Given the description of an element on the screen output the (x, y) to click on. 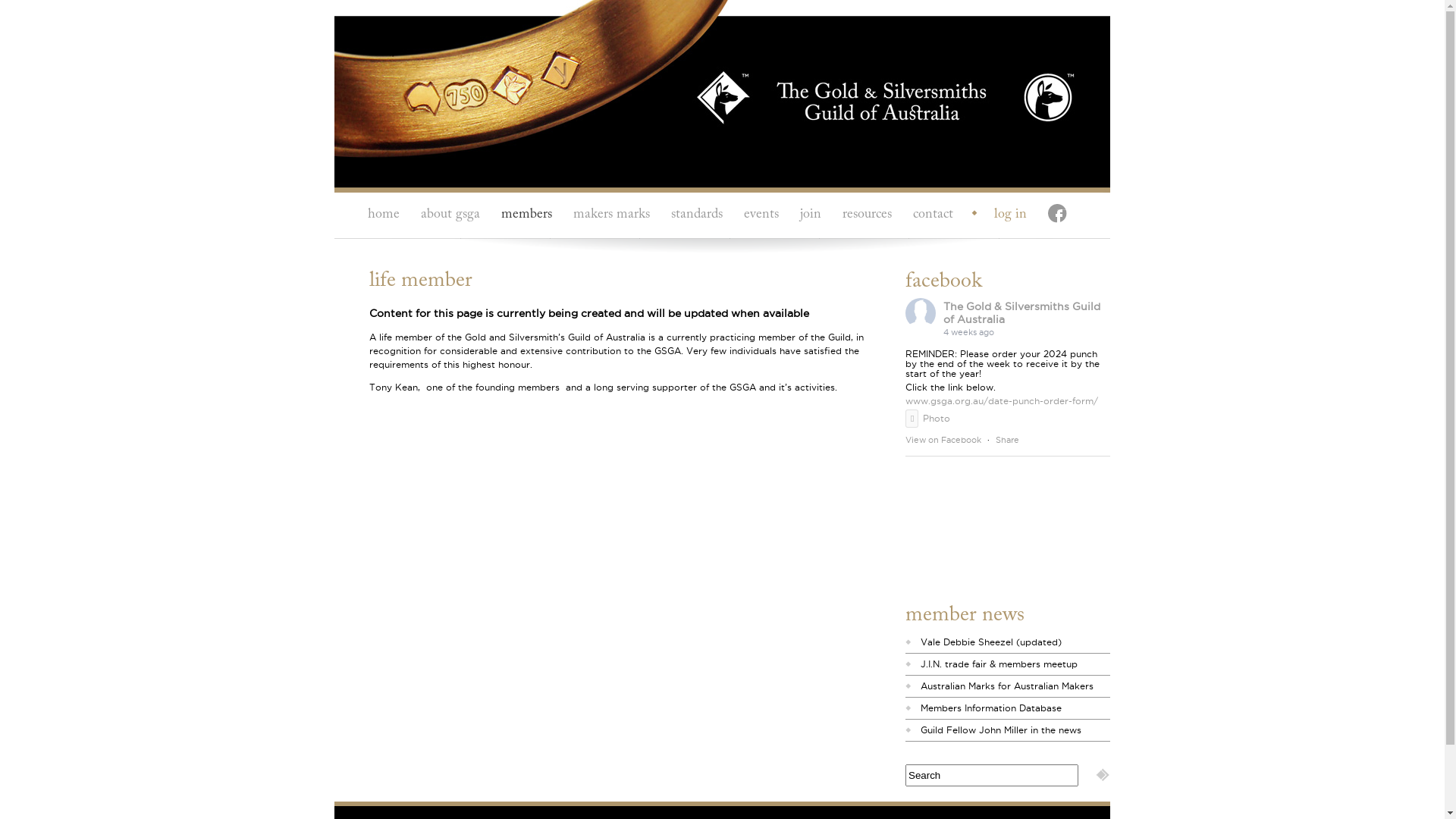
View on Facebook Element type: text (943, 439)
Search Element type: text (1102, 774)
Guild Fellow John Miller in the news Element type: text (1000, 729)
members Element type: text (526, 215)
events Element type: text (761, 215)
The Gold & Silversmiths Guild of Australia Element type: text (1021, 312)
Australian Marks for Australian Makers Element type: text (1006, 685)
Members Information Database Element type: text (990, 707)
Share Element type: text (1007, 439)
join Element type: text (810, 215)
resources Element type: text (866, 215)
standards Element type: text (696, 215)
facebook Element type: text (1054, 215)
contact Element type: text (932, 215)
log in Element type: text (1002, 215)
home Element type: text (383, 215)
makers marks Element type: text (611, 215)
Photo Element type: text (927, 418)
Search Element type: text (991, 775)
about gsga Element type: text (450, 215)
www.gsga.org.au/date-punch-order-form/ Element type: text (1001, 400)
J.I.N. trade fair & members meetup Element type: text (998, 663)
Vale Debbie Sheezel (updated) Element type: text (990, 641)
